Given the description of an element on the screen output the (x, y) to click on. 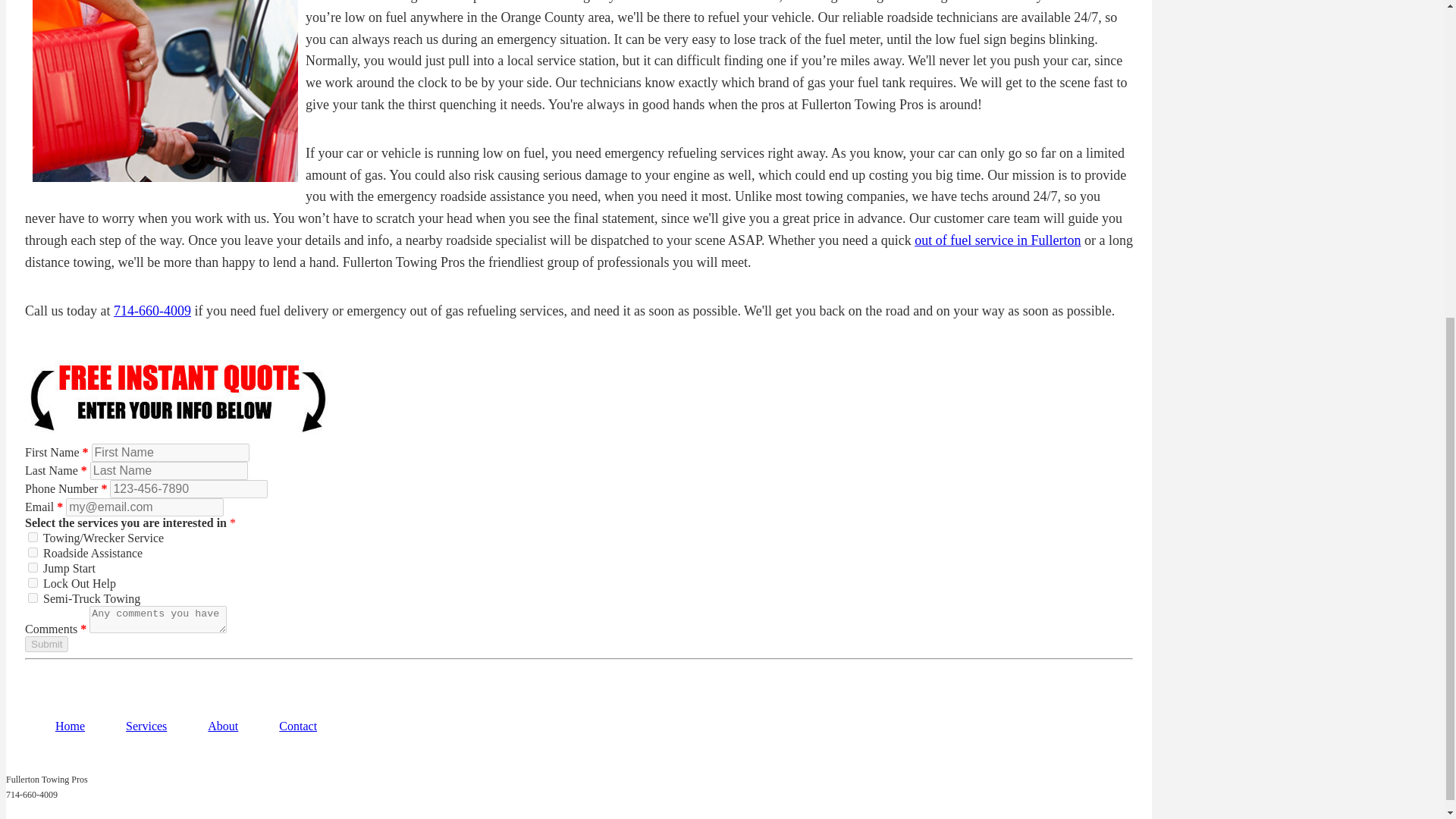
semi truck towing (32, 597)
Home (69, 725)
car jump start (32, 567)
roadside assistance (32, 552)
Contact (298, 725)
Services (146, 725)
towing service (32, 537)
lock out help (32, 583)
About (223, 725)
out of fuel service in Fullerton (997, 240)
